Given the description of an element on the screen output the (x, y) to click on. 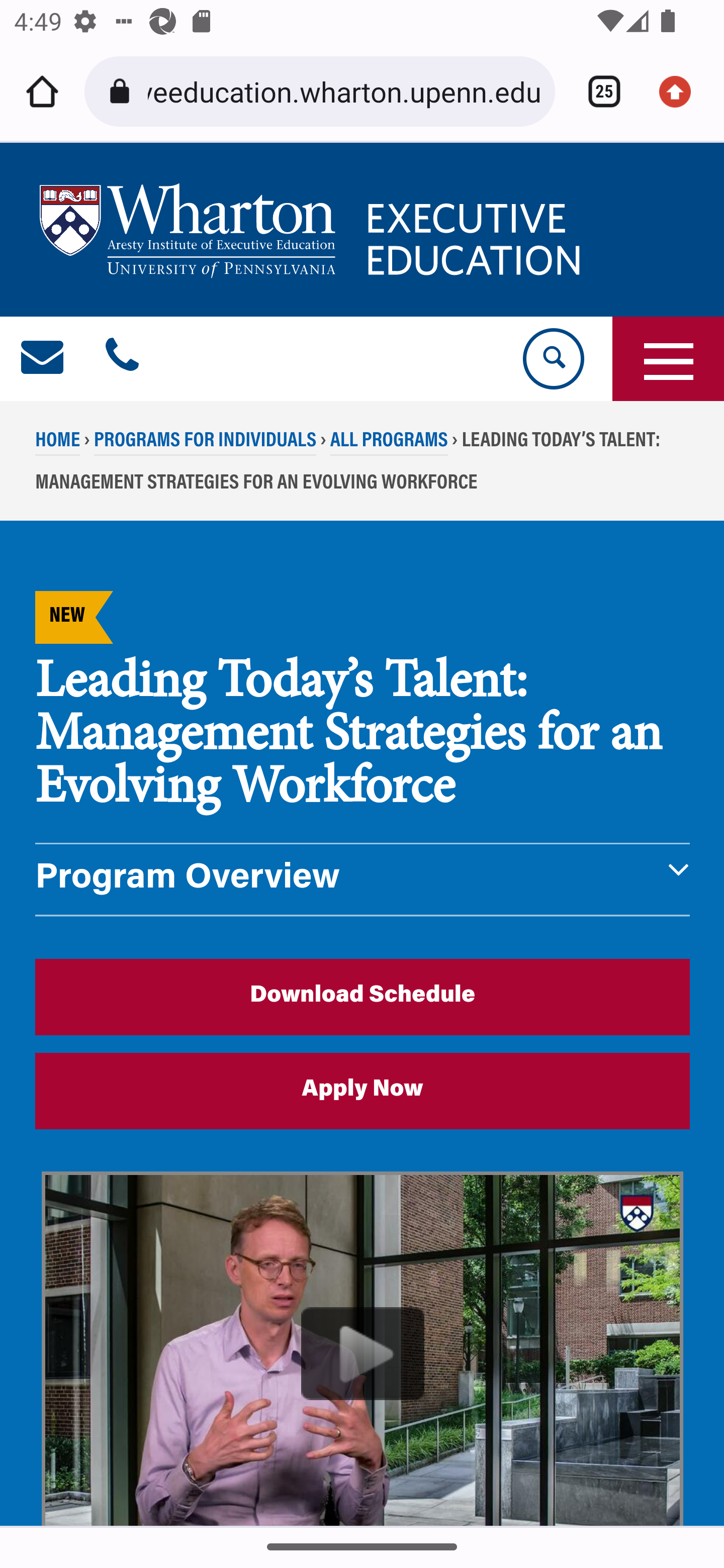
Home (42, 91)
Connection is secure (122, 91)
Switch or close tabs (597, 91)
Update available. More options (681, 91)
Wharton Executive Education (313, 230)
 (43, 358)
 (122, 358)
Mobile menu toggle (668, 358)
 Search Wharton  (552, 358)
HOME (58, 444)
PROGRAMS FOR INDIVIDUALS (205, 444)
ALL PROGRAMS (388, 444)
Program Overview  (362, 879)
Download Schedule (363, 996)
Apply Now (363, 1090)
Play video content LEAD Overview - Matthew Bidwell (363, 1349)
